Given the description of an element on the screen output the (x, y) to click on. 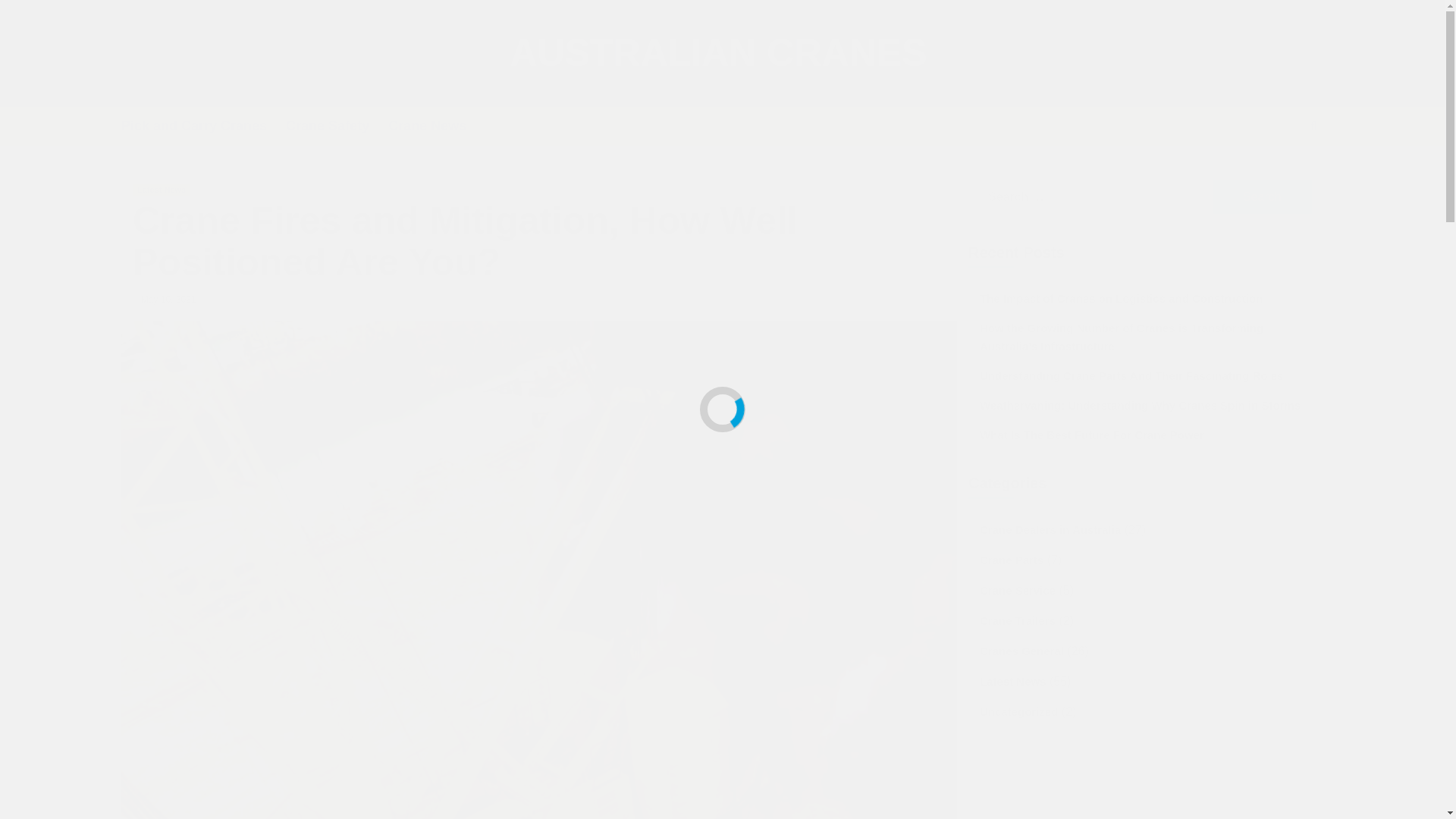
Search (1261, 196)
Search (1278, 173)
May 10, 2021 (168, 299)
Latest News (161, 189)
Search (1261, 196)
What Is The Best Future For Crane Power (1145, 434)
AUSTRALIAN CRANES (717, 52)
Search (1261, 196)
Crane Safety (336, 126)
Crane News (436, 126)
